Given the description of an element on the screen output the (x, y) to click on. 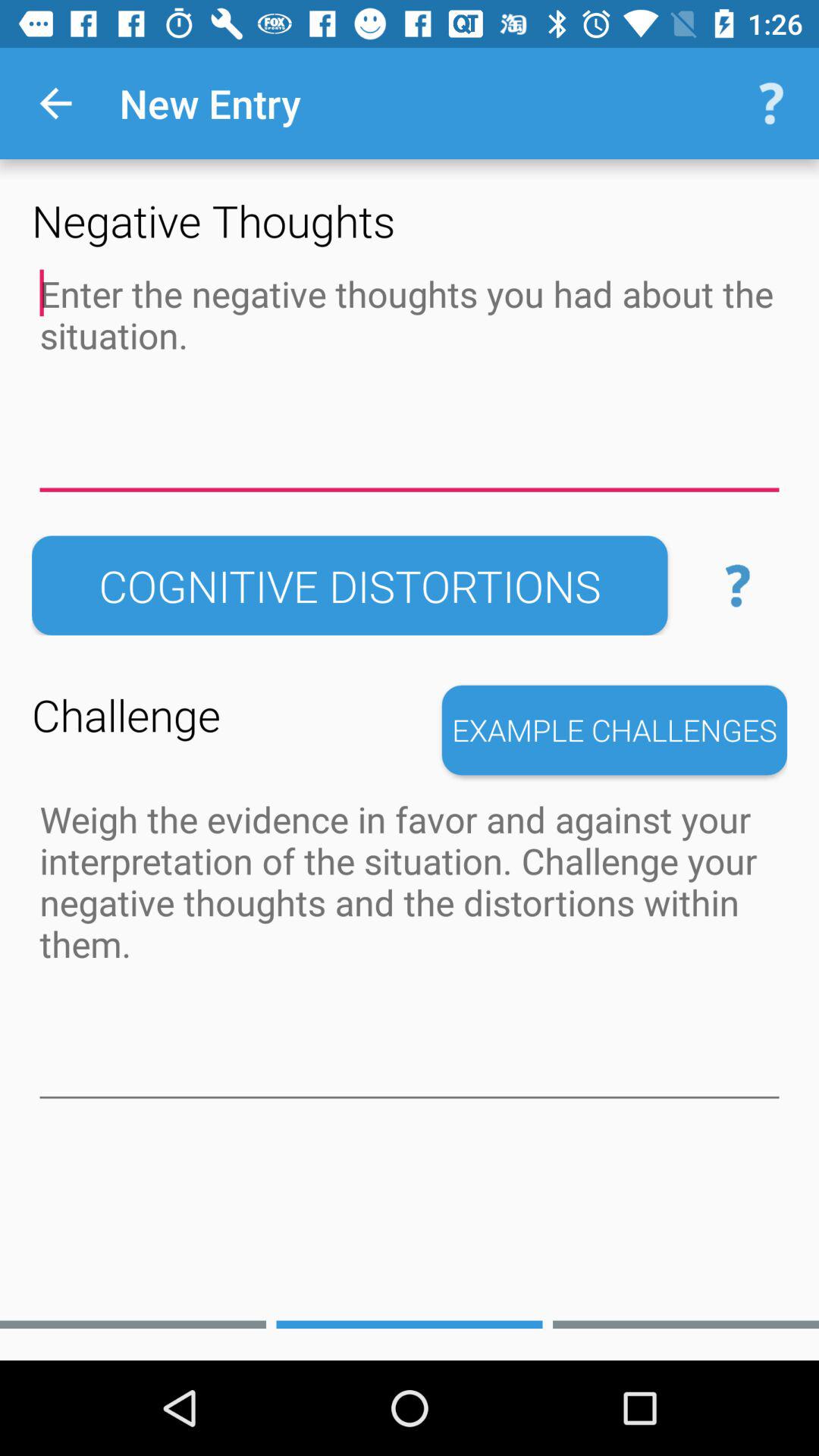
turn off the cognitive distortions button (349, 585)
